Given the description of an element on the screen output the (x, y) to click on. 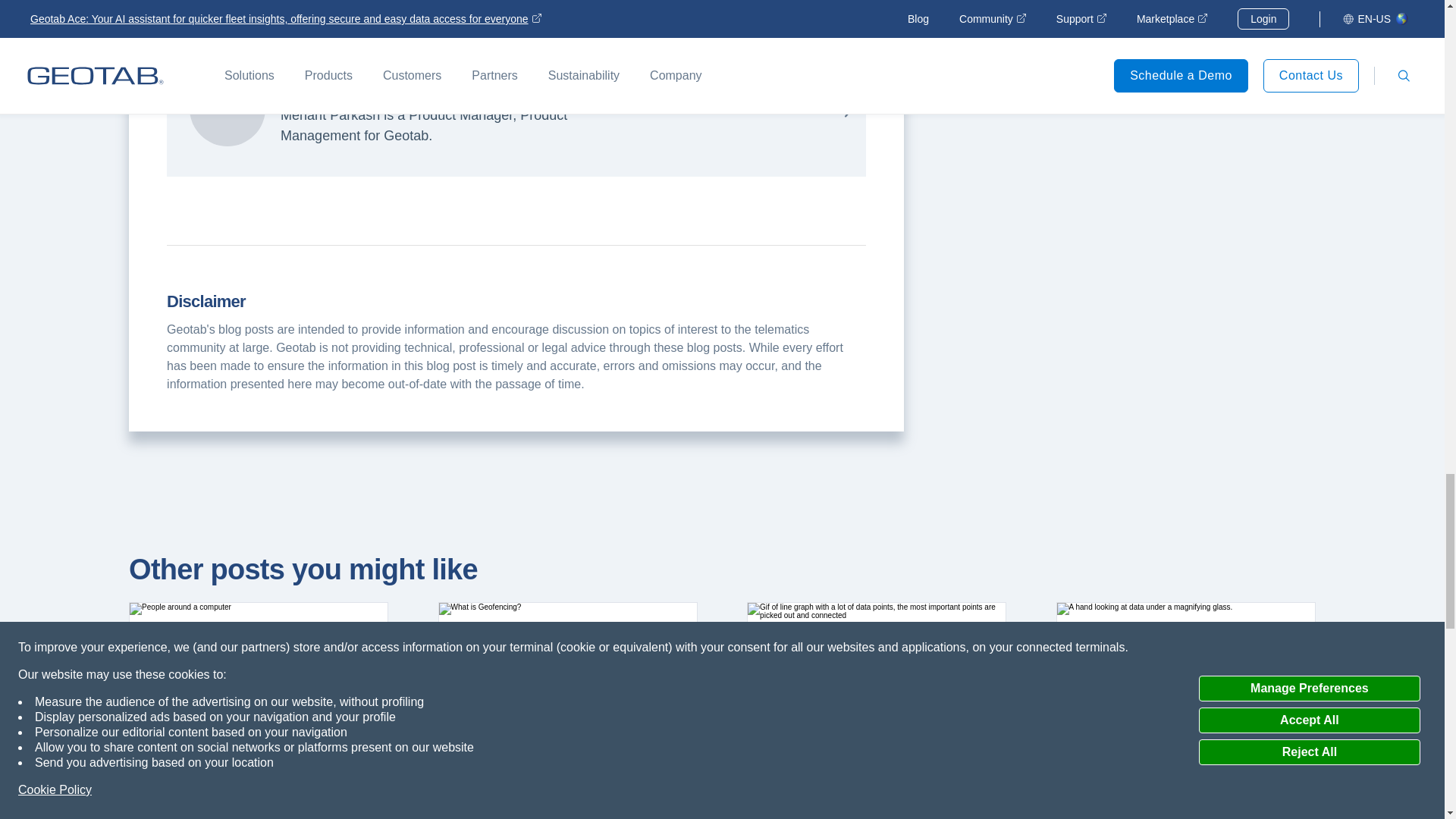
Mehant Parkash (226, 108)
